Given the description of an element on the screen output the (x, y) to click on. 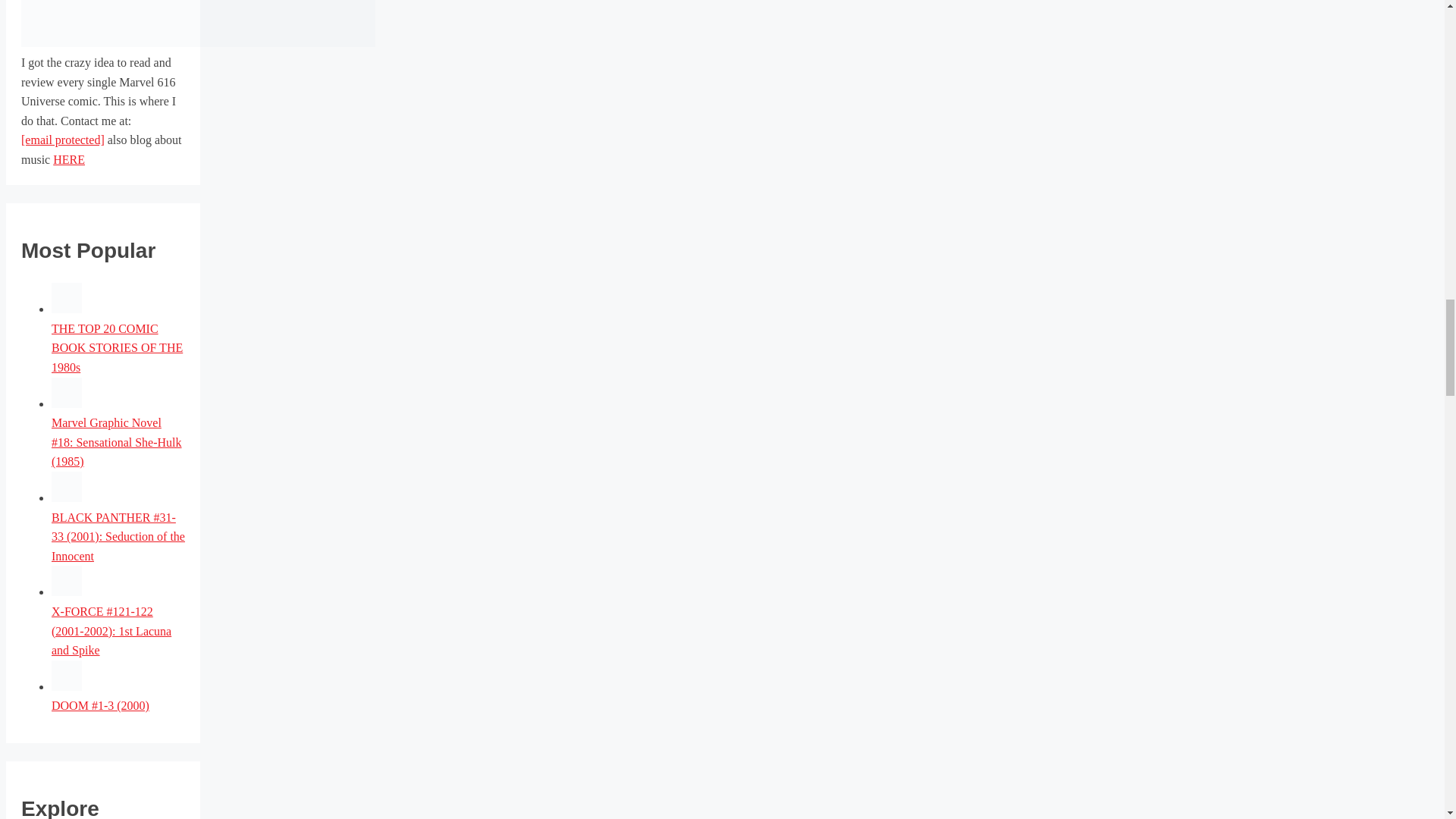
THE TOP 20 COMIC BOOK STORIES OF THE 1980s (65, 308)
HERE (68, 159)
THE TOP 20 COMIC BOOK STORIES OF THE 1980s (116, 347)
THE TOP 20 COMIC BOOK STORIES OF THE 1980s (116, 347)
